Given the description of an element on the screen output the (x, y) to click on. 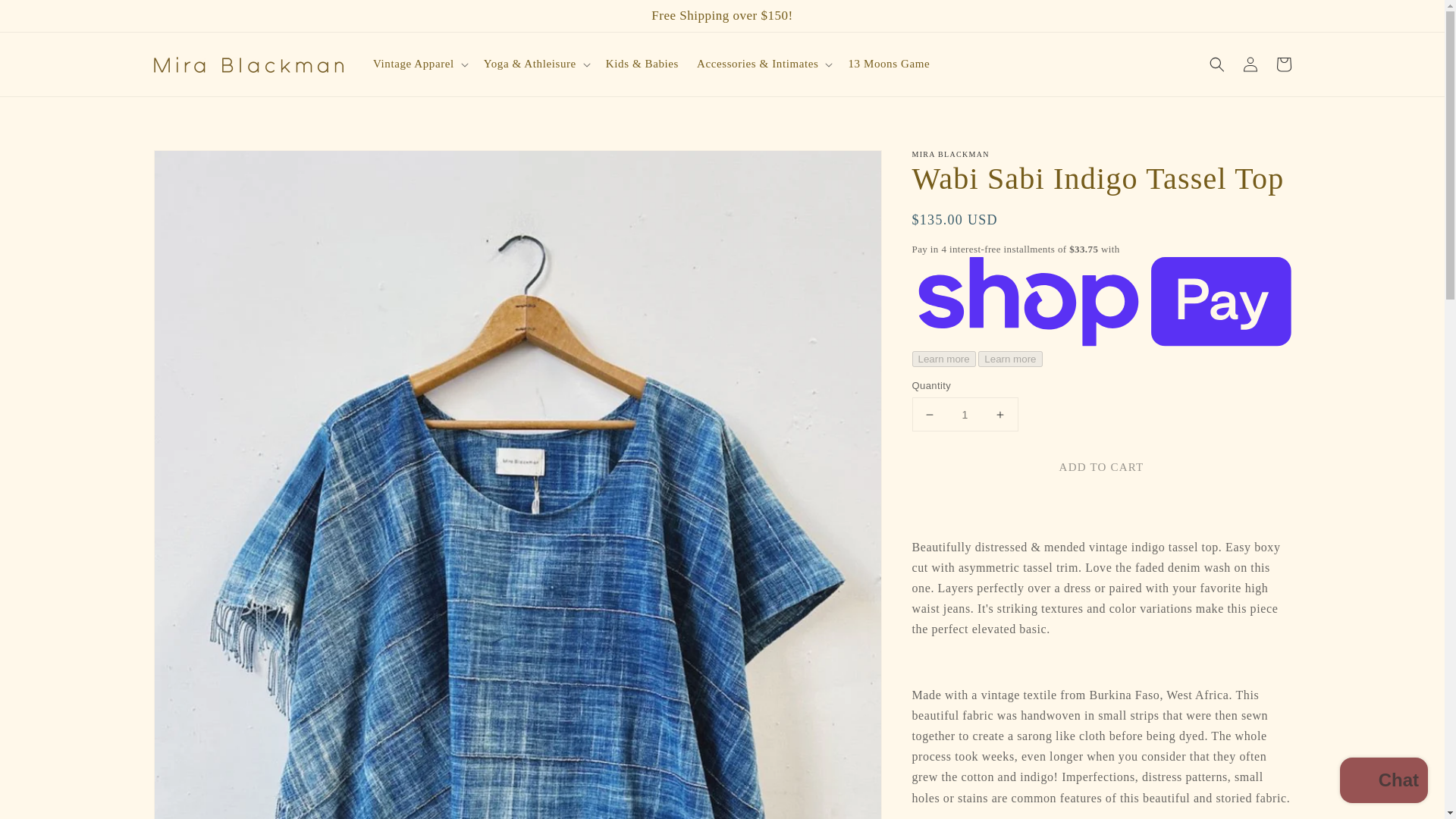
1 (964, 414)
Log in (1249, 64)
Shopify online store chat (1383, 781)
SKIP TO CONTENT (45, 16)
13 Moons Game (888, 64)
